Given the description of an element on the screen output the (x, y) to click on. 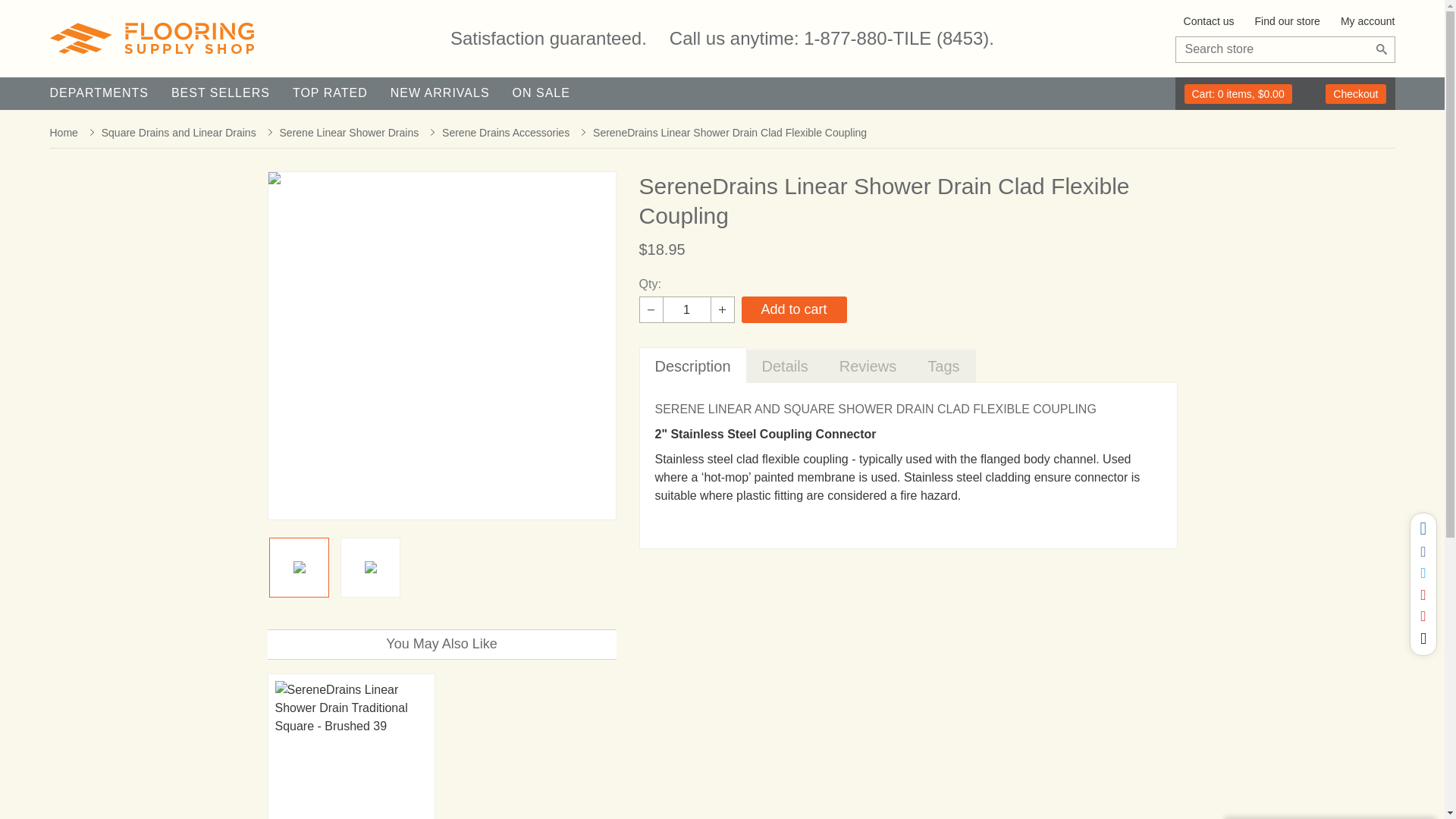
1 (686, 309)
